Given the description of an element on the screen output the (x, y) to click on. 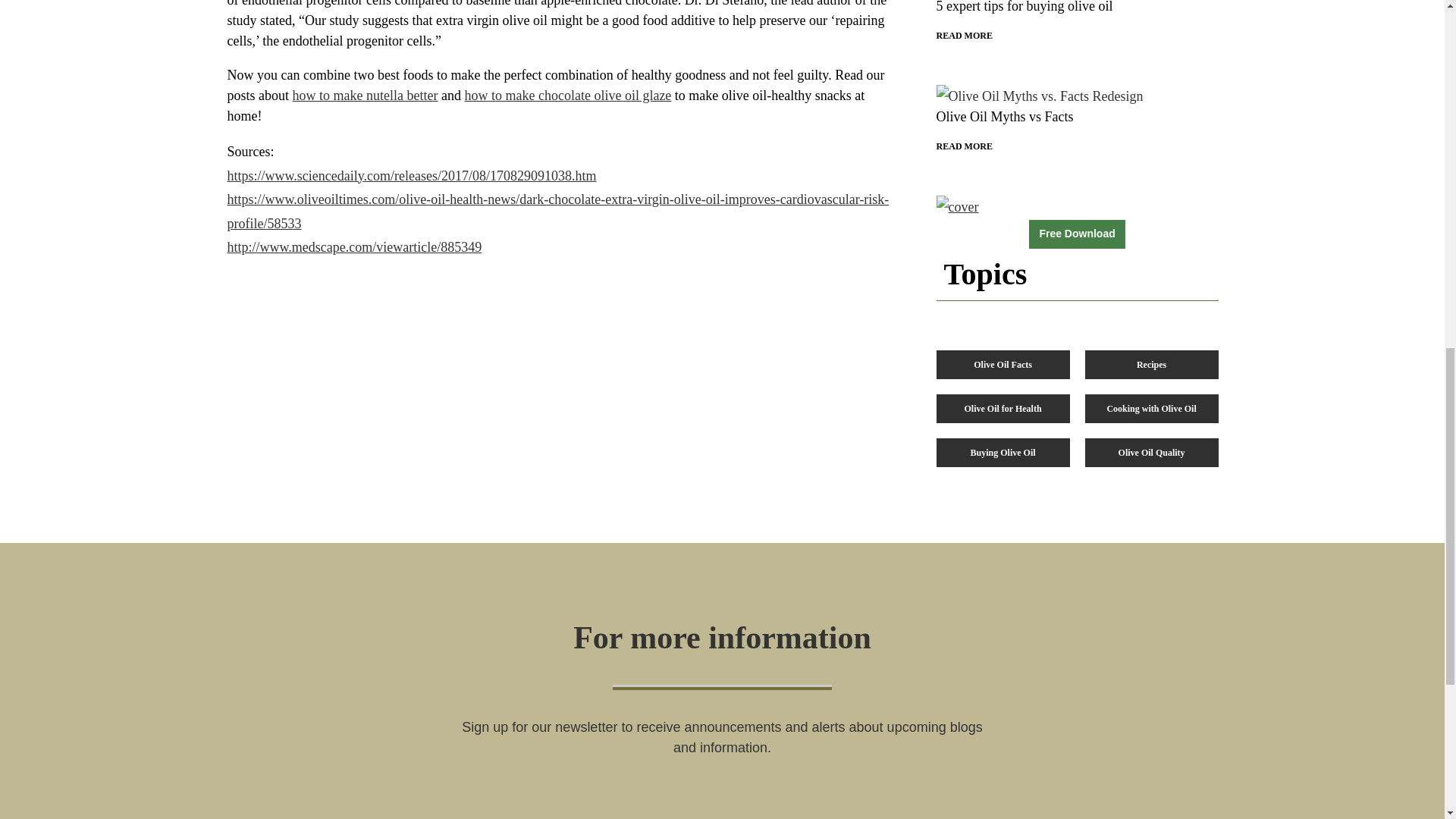
how to make nutella better (365, 95)
Olive Oil for Health (1003, 408)
Cooking with Olive Oil (1151, 408)
cover (957, 207)
Buying Olive Oil (1003, 452)
Recipes (1151, 364)
how to make chocolate olive oil glaze (1077, 22)
Olive Oil Facts (1077, 119)
Olive Oil Quality (567, 95)
Free Download (1003, 364)
